Given the description of an element on the screen output the (x, y) to click on. 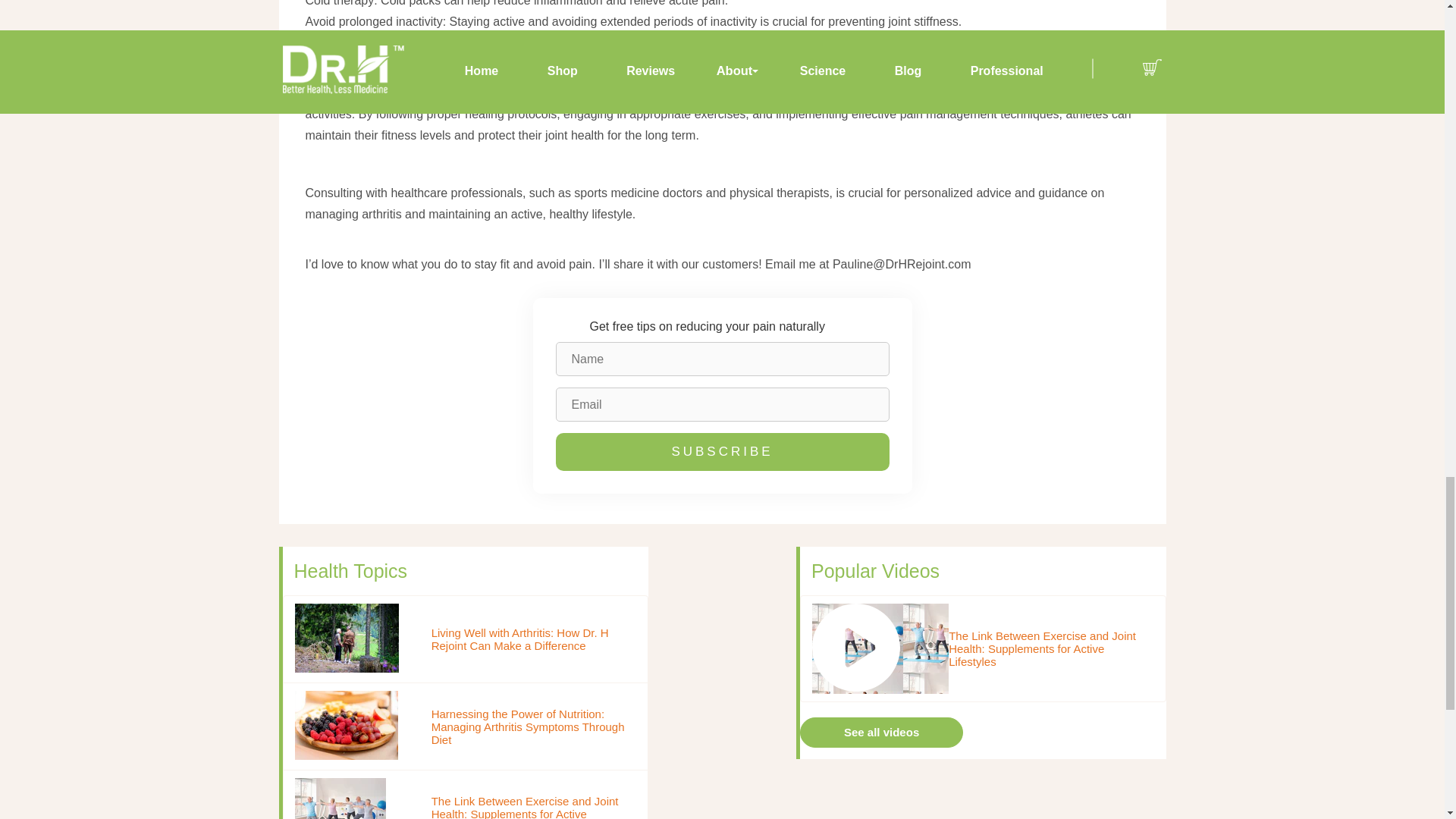
See all videos (880, 731)
Subscribe (721, 451)
Subscribe (721, 451)
